Given the description of an element on the screen output the (x, y) to click on. 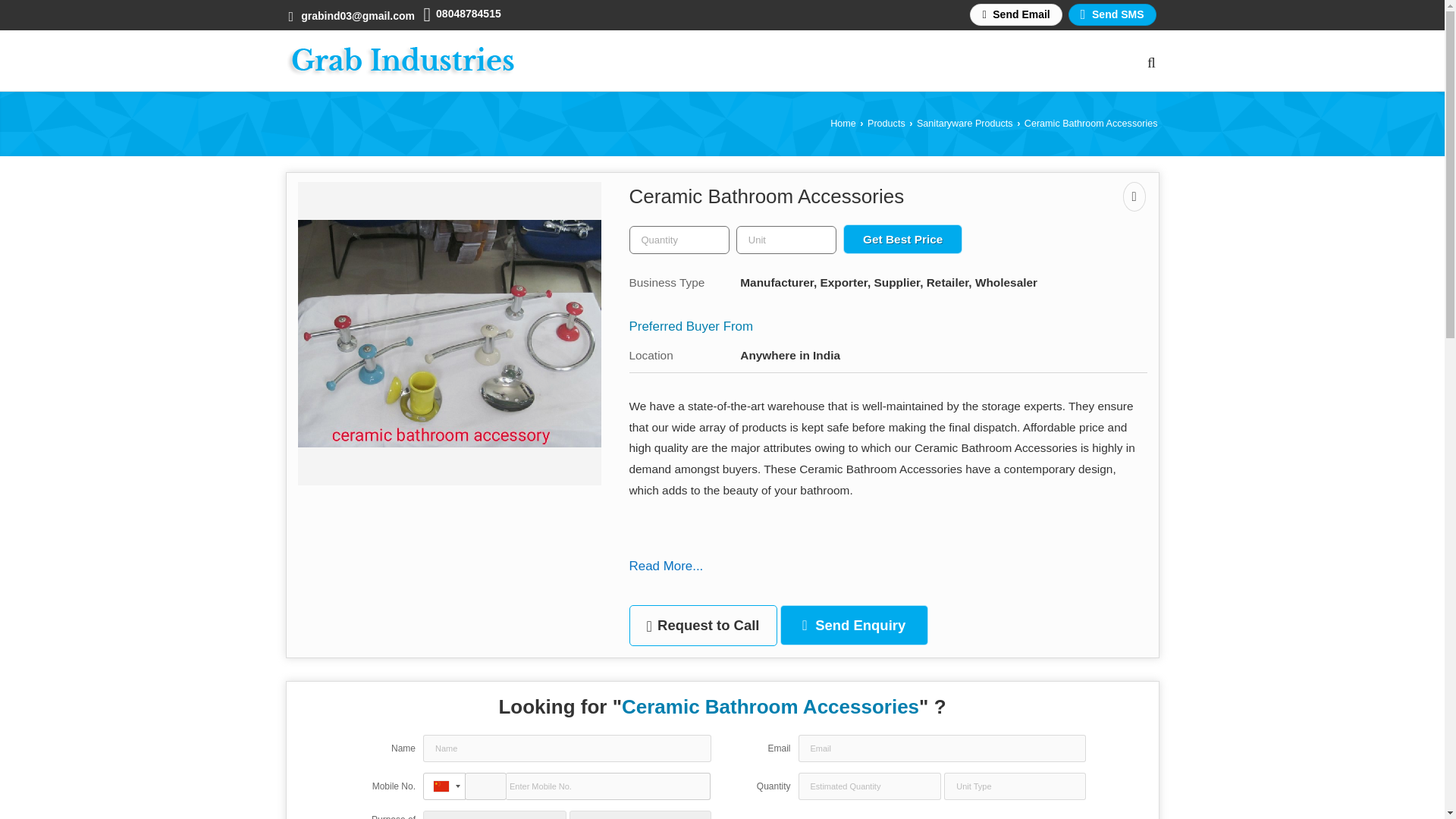
Reselling (433, 814)
Grab Industries (399, 60)
Products (886, 122)
Send SMS (1112, 14)
Sanitaryware Products (965, 122)
Home (842, 122)
Grab Industries (399, 60)
Send Email (1015, 14)
End Use (580, 814)
